Given the description of an element on the screen output the (x, y) to click on. 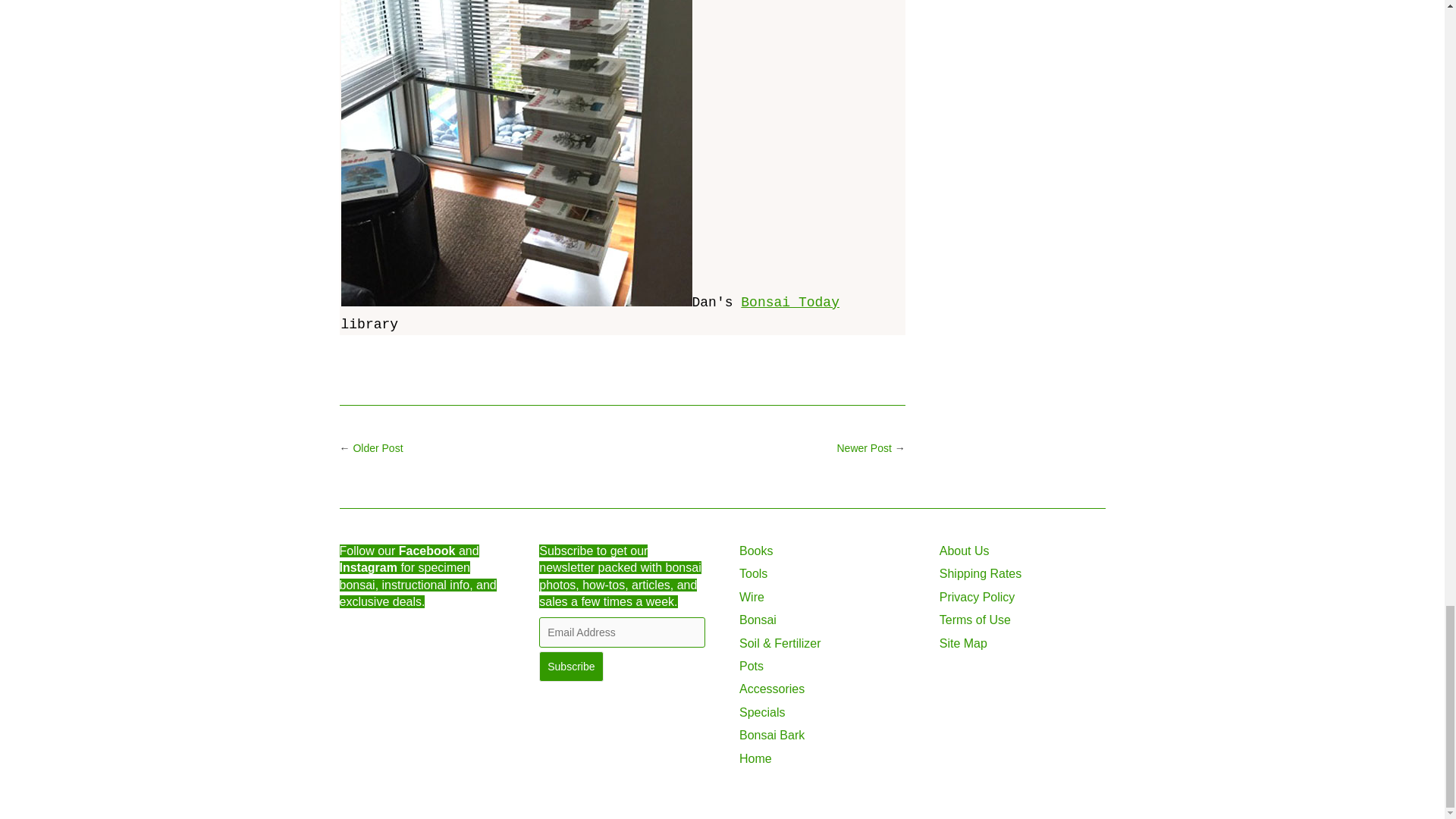
Subscribe (570, 666)
Bonsai Today (790, 302)
Older Post (377, 448)
Newer Post (864, 448)
